Given the description of an element on the screen output the (x, y) to click on. 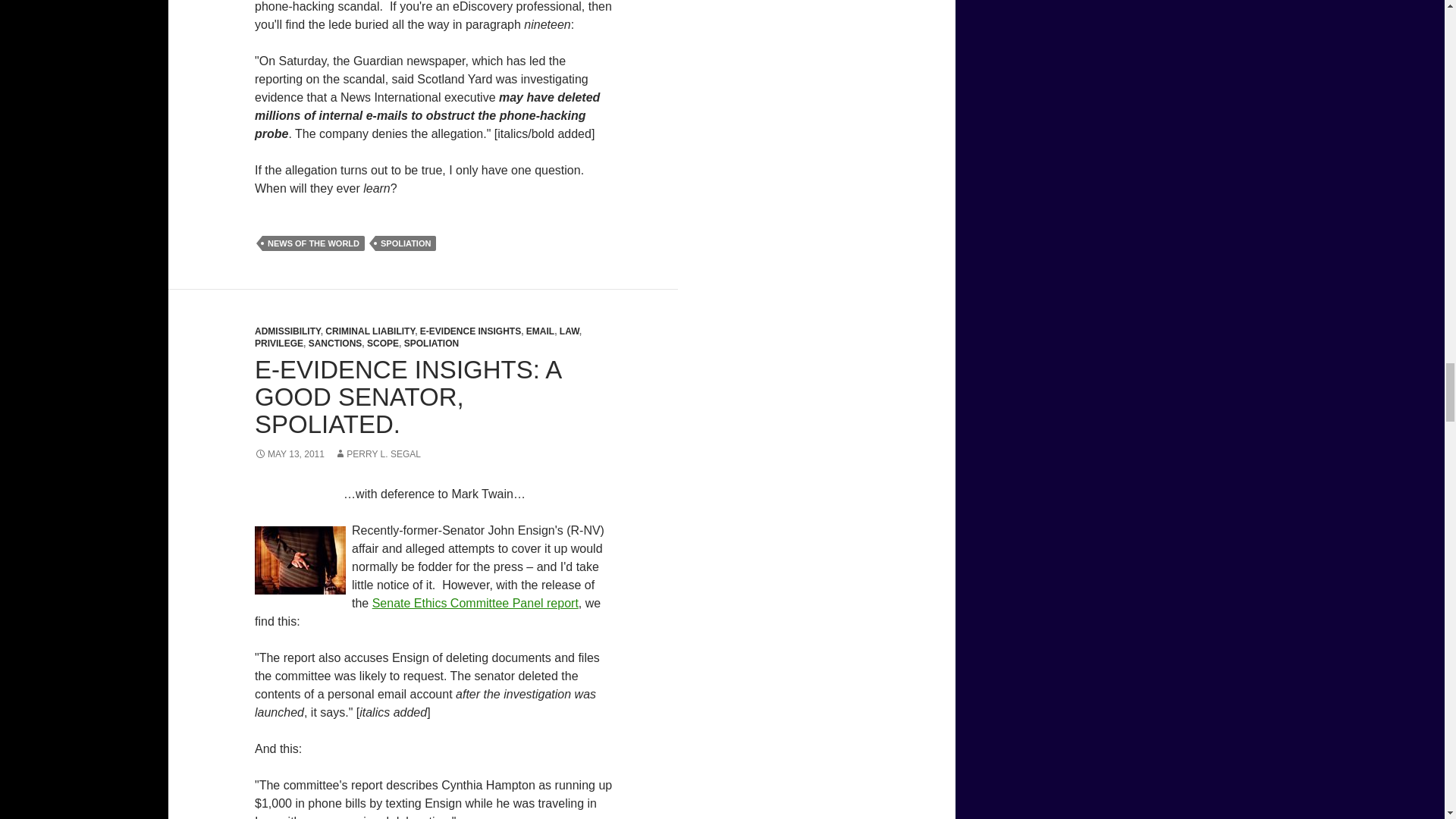
MP900400181 (300, 560)
